Given the description of an element on the screen output the (x, y) to click on. 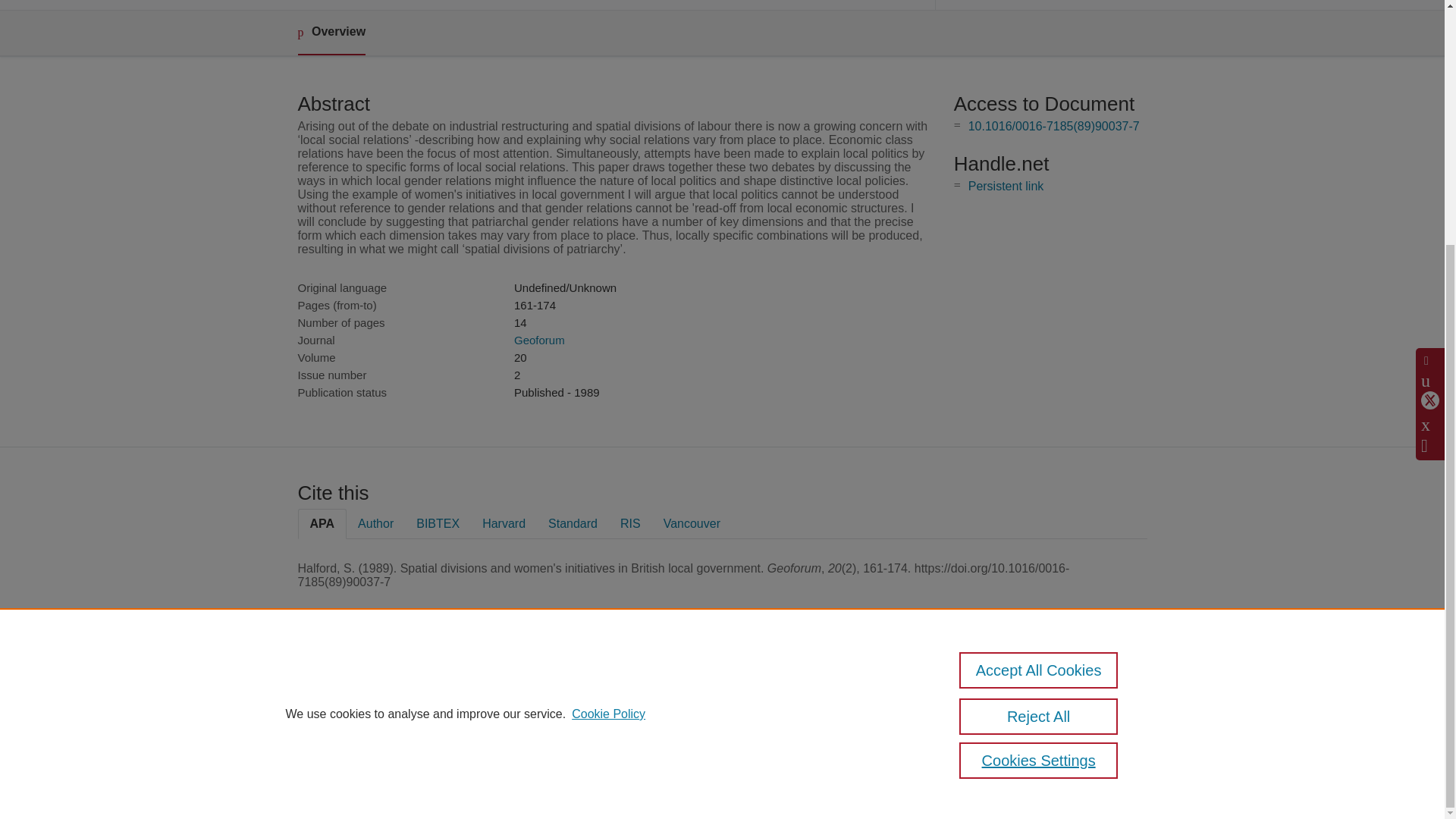
Report vulnerability (1061, 740)
Cookie Policy (608, 373)
Elsevier B.V. (506, 708)
Overview (331, 32)
Log in to Pure (327, 781)
use of cookies (796, 740)
Persistent link (1005, 185)
Geoforum (538, 339)
Pure (362, 687)
University of Bristol data protection policy (1072, 693)
